Given the description of an element on the screen output the (x, y) to click on. 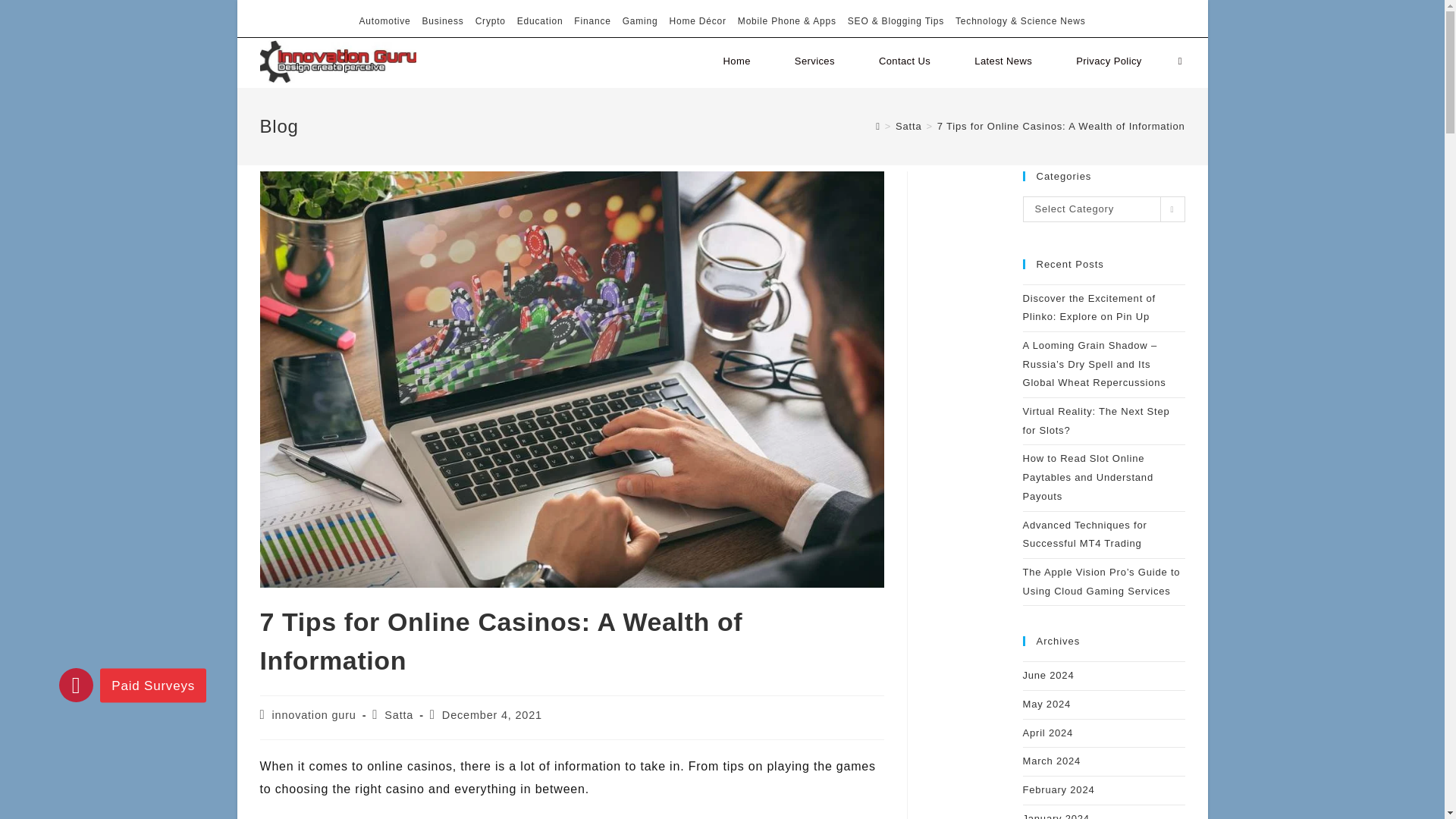
Contact Us (904, 60)
Business (443, 21)
Crypto (490, 21)
Posts by innovation guru (314, 715)
Satta (908, 125)
Education (539, 21)
Finance (591, 21)
innovation guru (314, 715)
Automotive (384, 21)
Gaming (640, 21)
Satta (398, 715)
Services (815, 60)
Home (735, 60)
Privacy Policy (1108, 60)
